Given the description of an element on the screen output the (x, y) to click on. 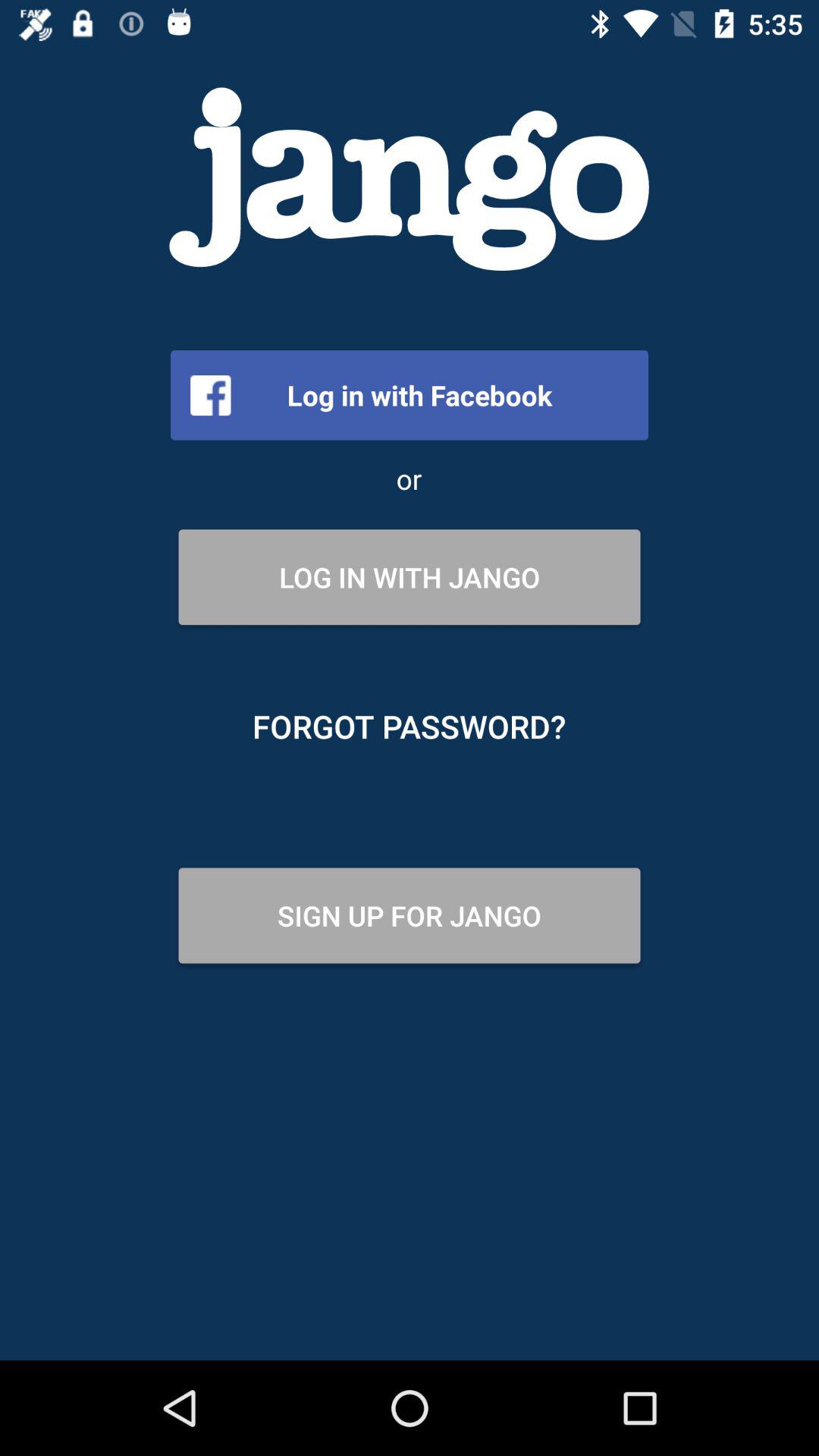
turn on the icon below the log in with item (408, 726)
